Given the description of an element on the screen output the (x, y) to click on. 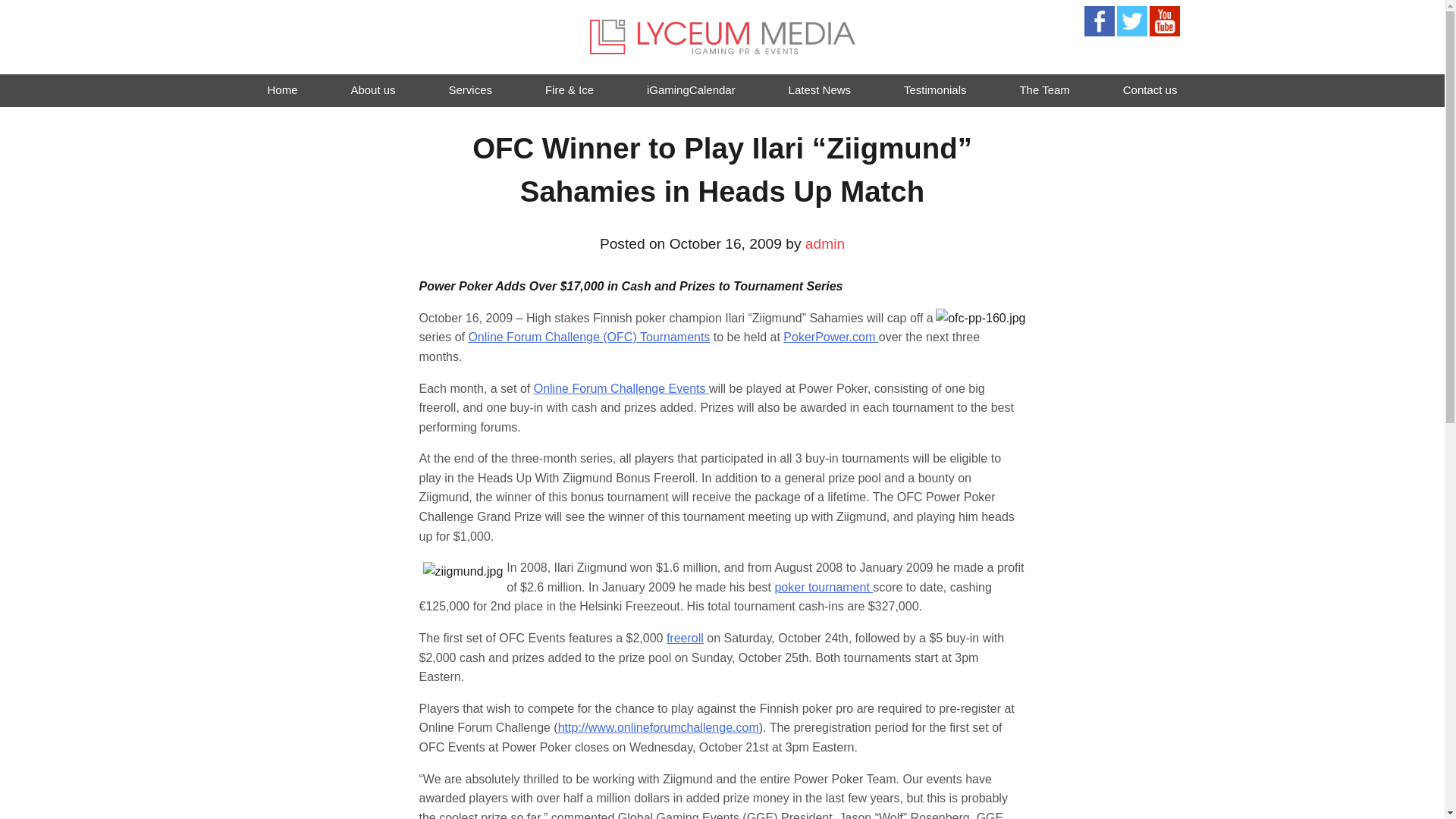
The Team (1043, 90)
Home (282, 90)
Contact us (1150, 90)
October 16, 2009 (725, 243)
Latest News (820, 90)
Online Forum Challenge Events (621, 388)
About us (372, 90)
PokerPower.com (830, 336)
poker tournament (823, 586)
Testimonials (935, 90)
